Given the description of an element on the screen output the (x, y) to click on. 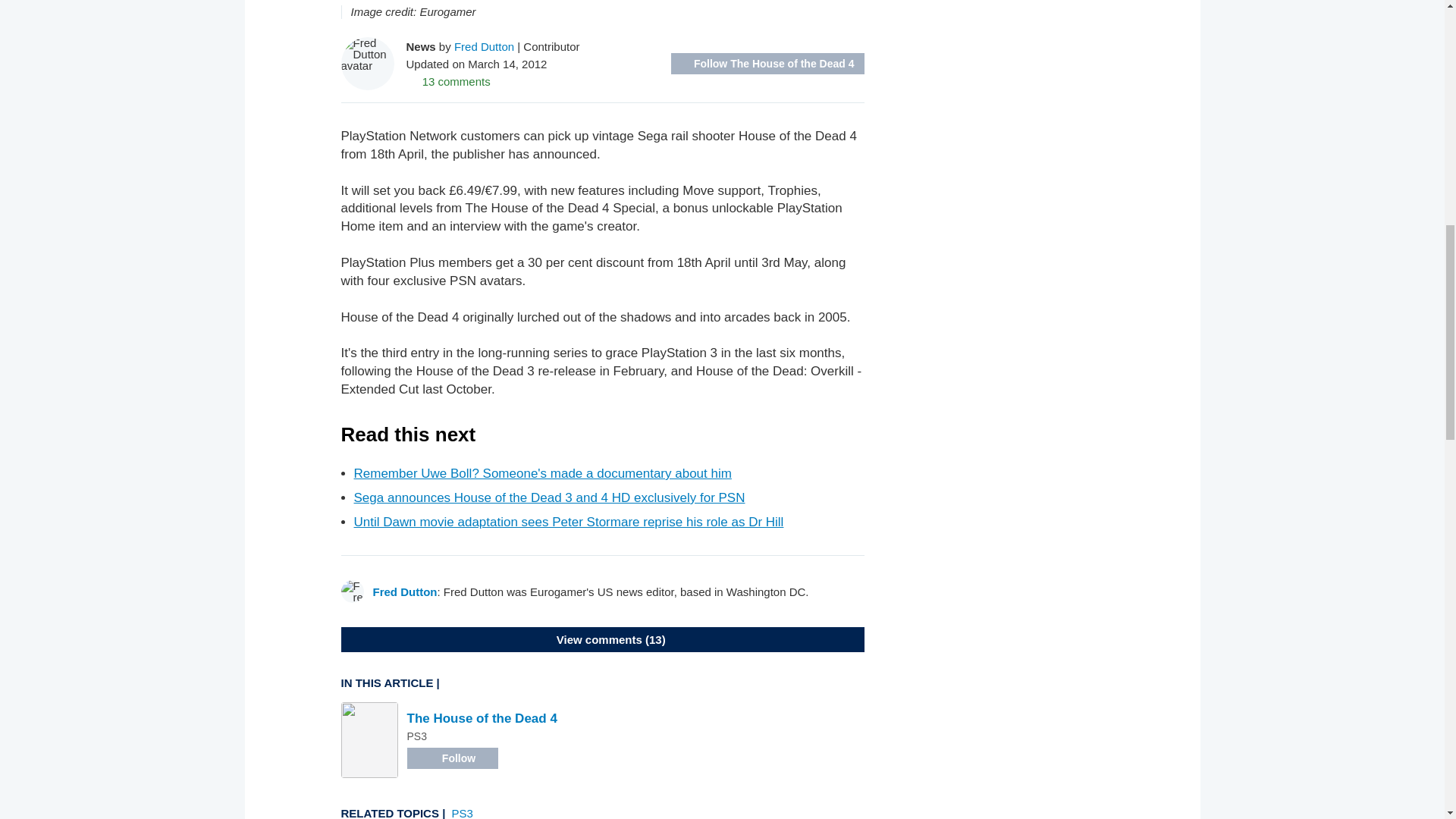
Fred Dutton (483, 45)
Follow The House of the Dead 4 (767, 63)
13 comments (448, 80)
Follow (451, 758)
The House of the Dead 4 (481, 718)
PS3 (462, 812)
Remember Uwe Boll? Someone's made a documentary about him (541, 473)
Fred Dutton (405, 591)
